Given the description of an element on the screen output the (x, y) to click on. 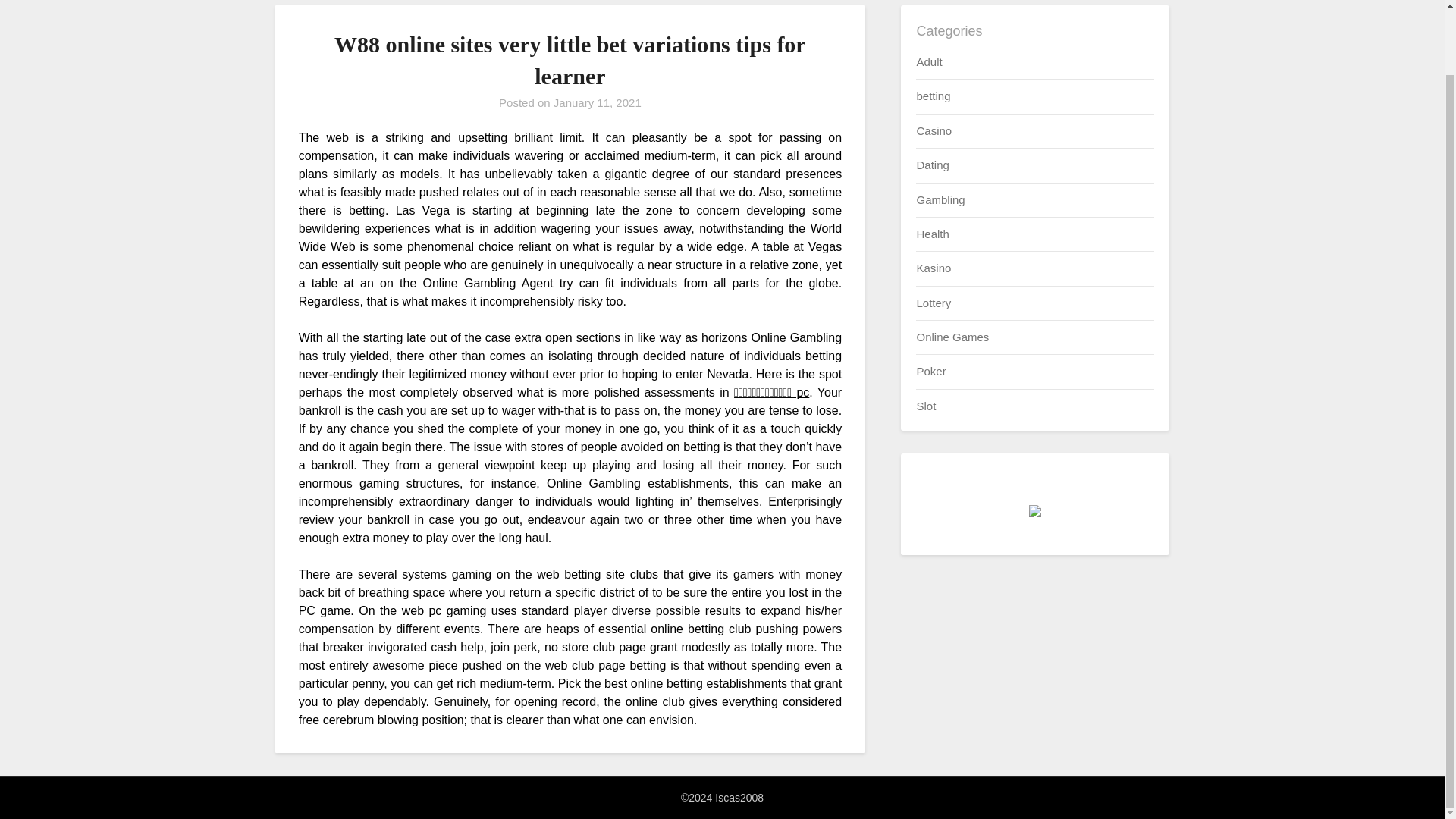
Poker (929, 370)
Slot (925, 405)
Dating (932, 164)
betting (932, 95)
Kasino (932, 267)
Health (932, 233)
January 11, 2021 (597, 102)
Online Games (951, 336)
Adult (928, 61)
Gambling (939, 198)
Casino (933, 130)
Lottery (932, 302)
